Given the description of an element on the screen output the (x, y) to click on. 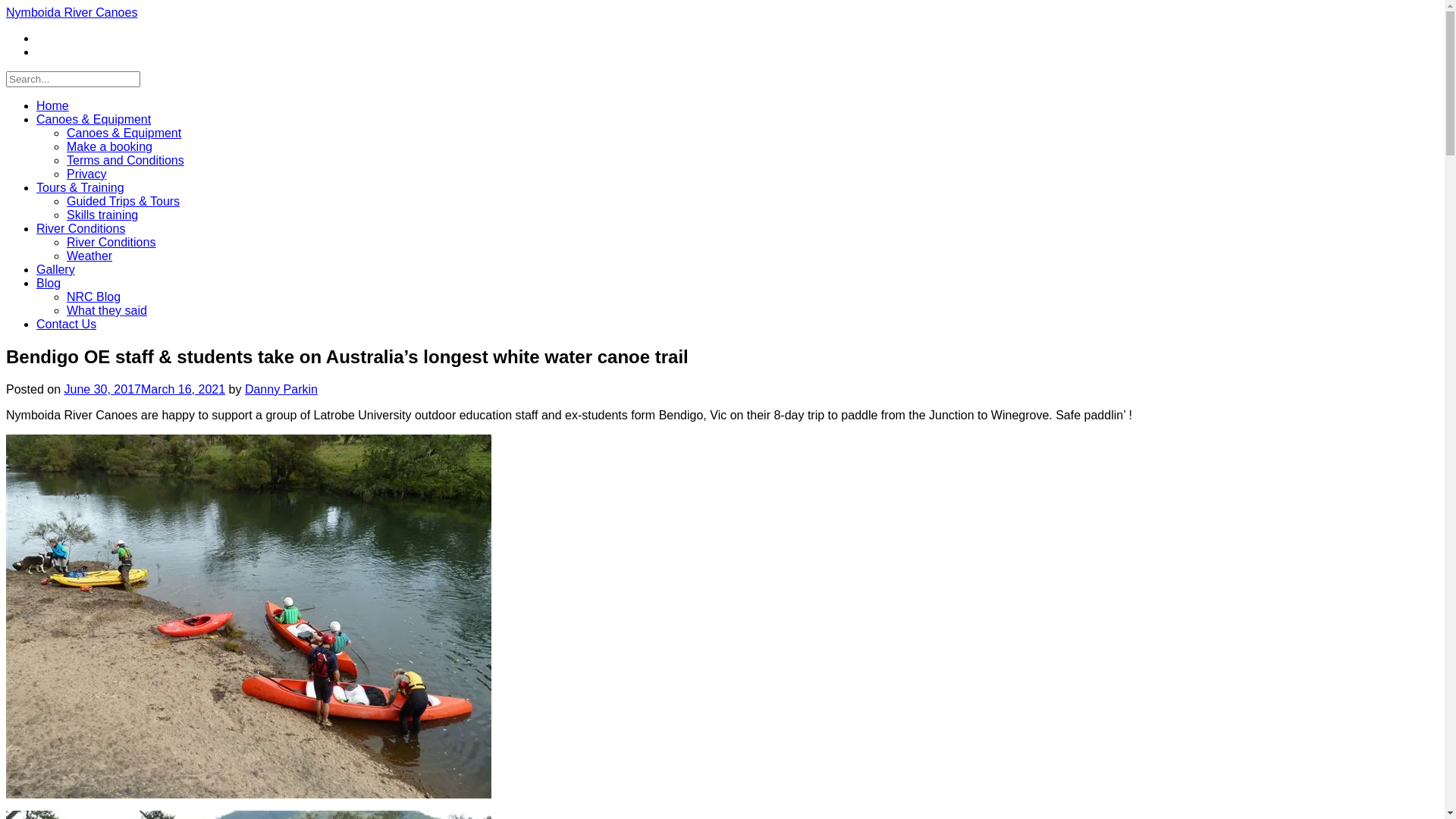
Canoes & Equipment Element type: text (123, 132)
June 30, 2017March 16, 2021 Element type: text (144, 388)
Blog Element type: text (48, 282)
Contact Us Element type: text (66, 323)
Gallery Element type: text (55, 269)
Terms and Conditions Element type: text (125, 159)
River Conditions Element type: text (110, 241)
Canoes & Equipment Element type: text (93, 118)
What they said Element type: text (106, 310)
Privacy Element type: text (86, 173)
Nymboida River Canoes Element type: text (71, 12)
NRC Blog Element type: text (93, 296)
Skip to content Element type: text (5, 5)
Skills training Element type: text (102, 214)
Tours & Training Element type: text (80, 187)
Guided Trips & Tours Element type: text (122, 200)
River Conditions Element type: text (80, 228)
Search for: Element type: hover (73, 79)
Home Element type: text (52, 105)
Weather Element type: text (89, 255)
Make a booking Element type: text (109, 146)
Danny Parkin Element type: text (280, 388)
